Given the description of an element on the screen output the (x, y) to click on. 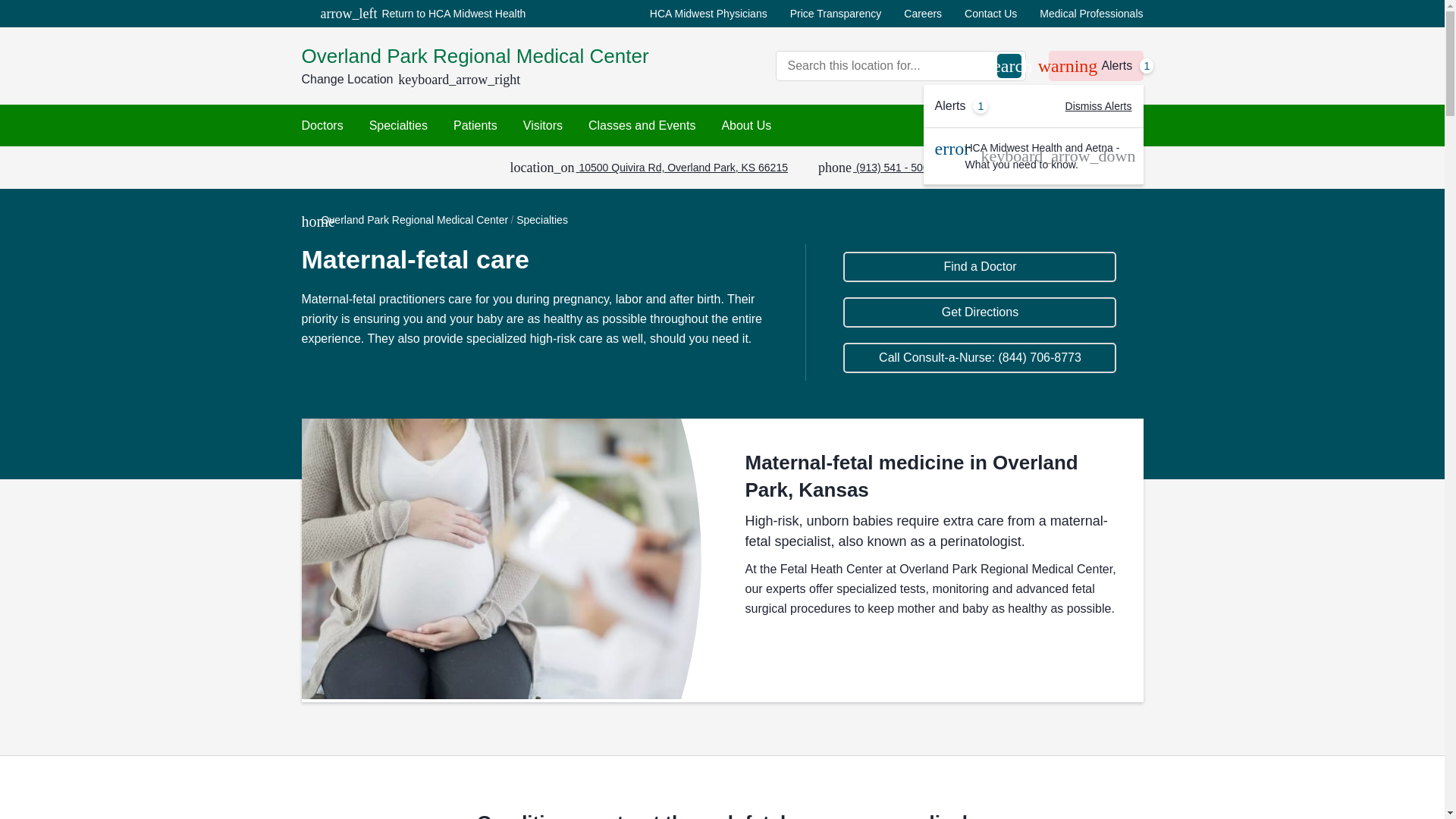
Careers (923, 13)
Doctors (322, 125)
Dismiss Alerts (1098, 106)
Medical Professionals (1090, 13)
Patients (474, 125)
Price Transparency (836, 13)
Overland Park Regional Medical Center (506, 55)
search (1007, 65)
Specialties (398, 125)
HCA Midwest Physicians (708, 13)
Contact Us (1095, 65)
Skip to Content (989, 13)
